Given the description of an element on the screen output the (x, y) to click on. 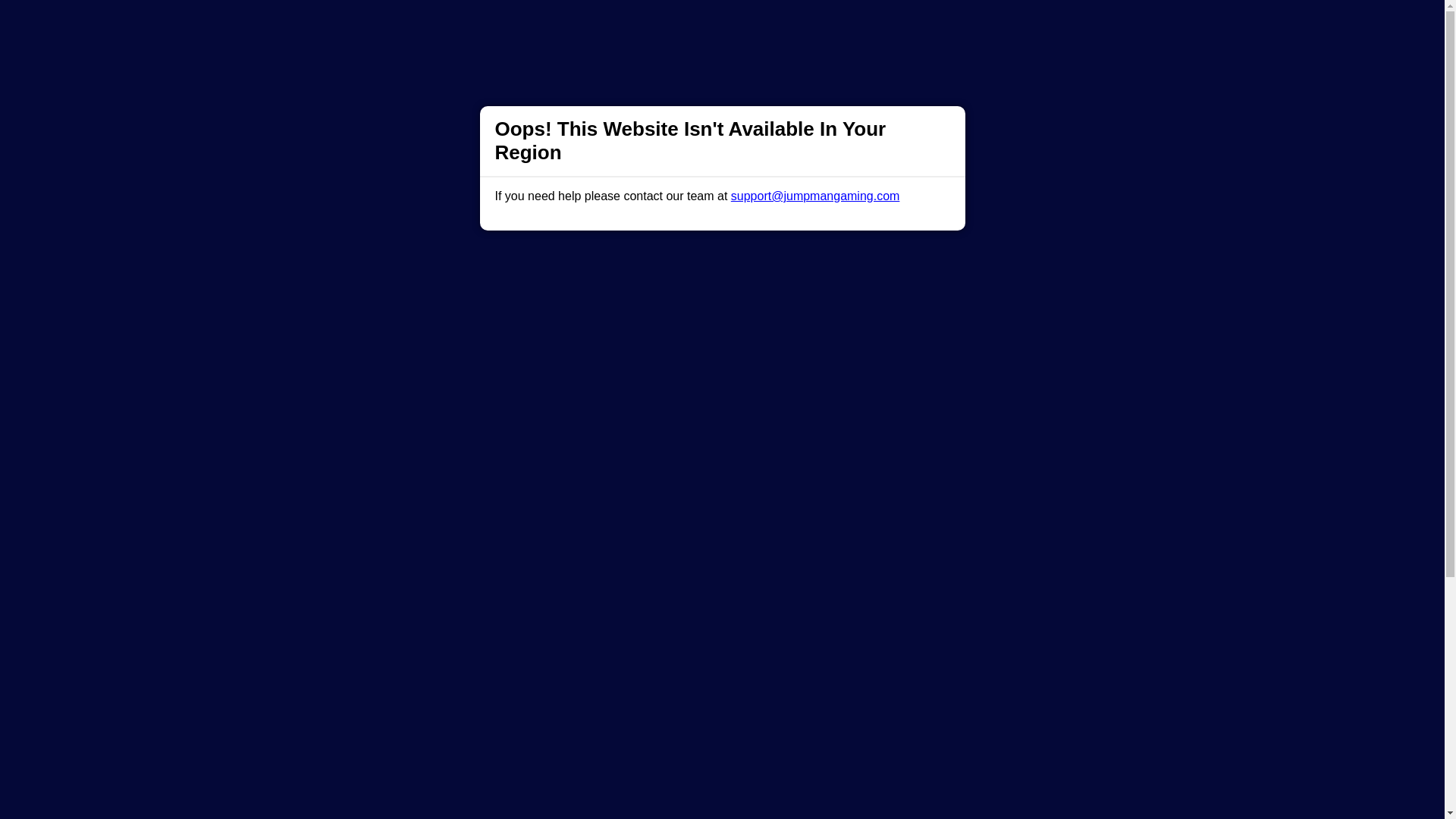
Cookie Policy (800, 799)
Login (960, 26)
Trophies (420, 26)
Casino Slots (569, 26)
Back To All Games (722, 727)
Promotions (490, 26)
Join Now (1053, 26)
Back To All Games (721, 727)
